Given the description of an element on the screen output the (x, y) to click on. 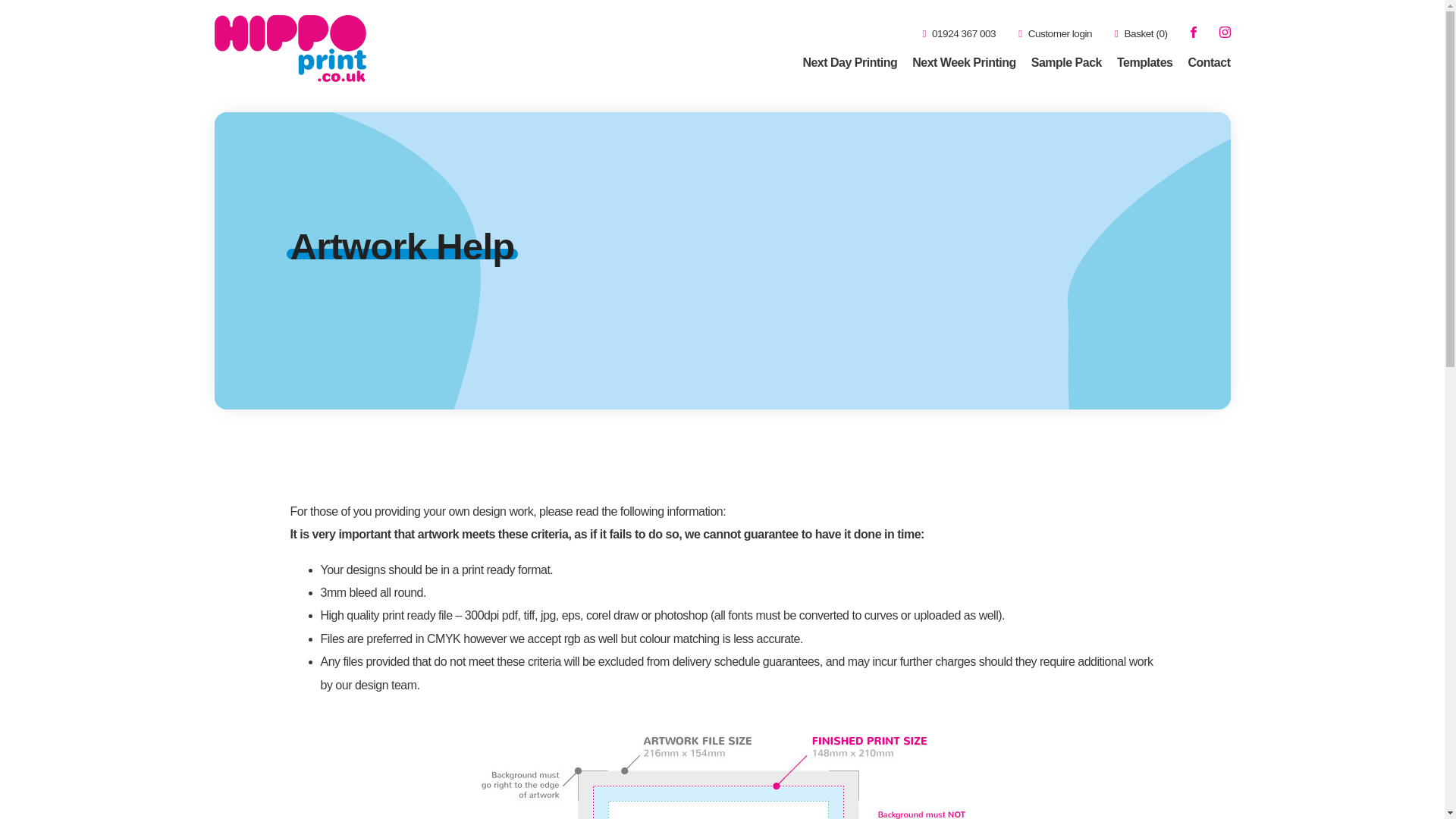
Next Day Printing (849, 62)
Customer login (1054, 33)
Sample Pack (1066, 62)
Next Week Printing (964, 62)
01924 367 003 (958, 33)
